Given the description of an element on the screen output the (x, y) to click on. 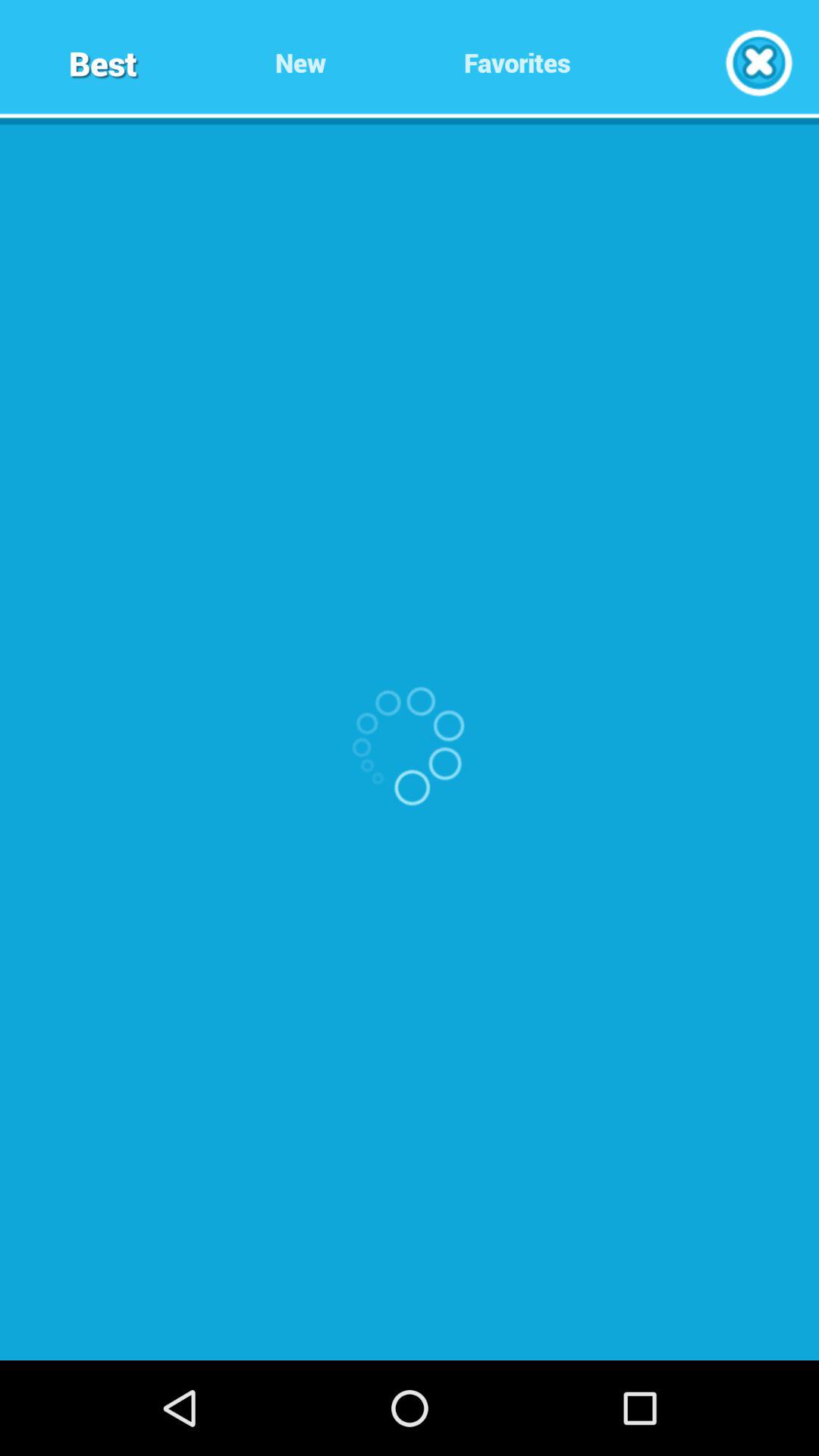
close scrren (758, 62)
